Given the description of an element on the screen output the (x, y) to click on. 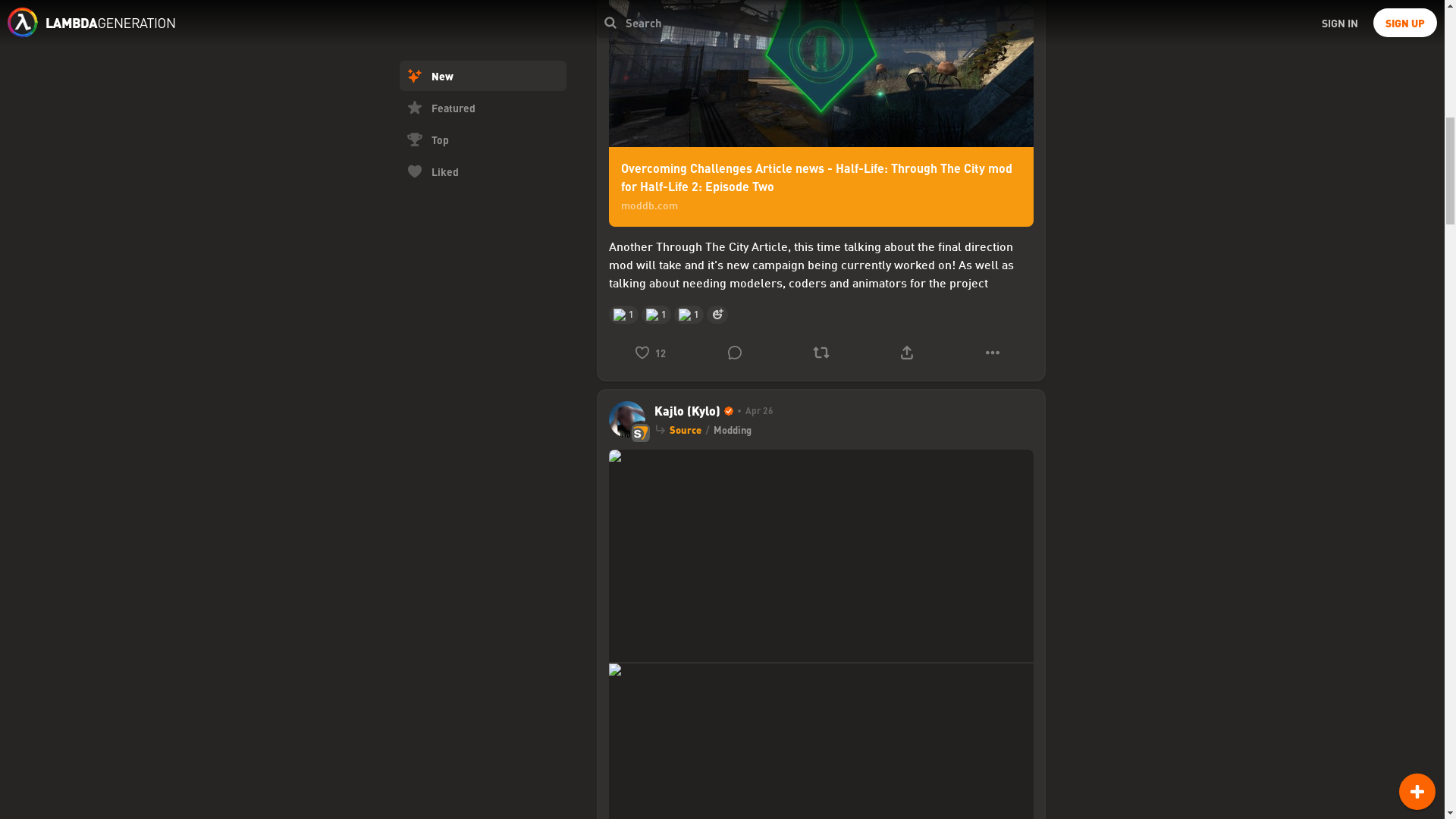
Apr 26 (752, 410)
Modding (732, 429)
Source (684, 429)
